Given the description of an element on the screen output the (x, y) to click on. 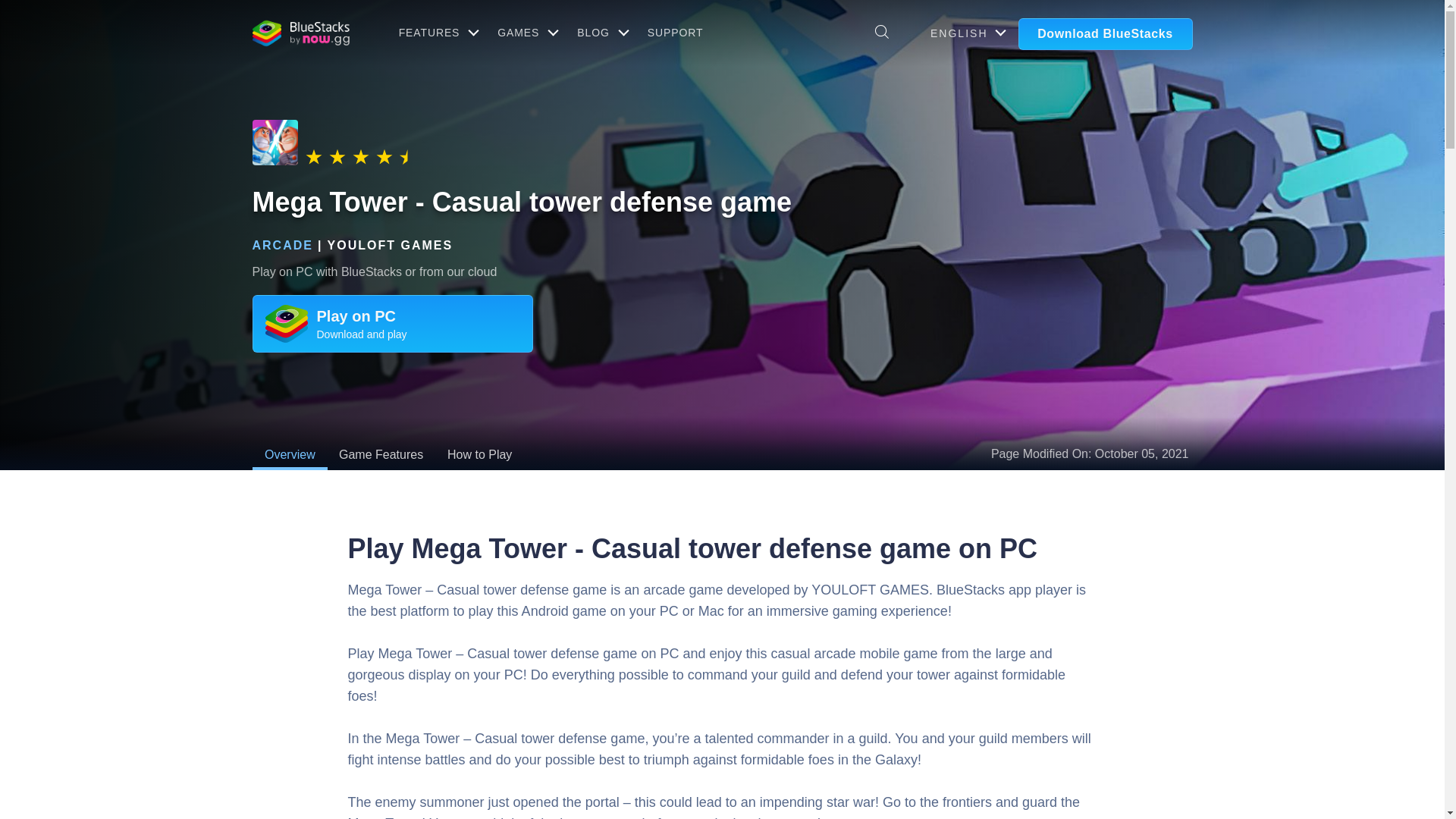
FEATURES (437, 32)
